Given the description of an element on the screen output the (x, y) to click on. 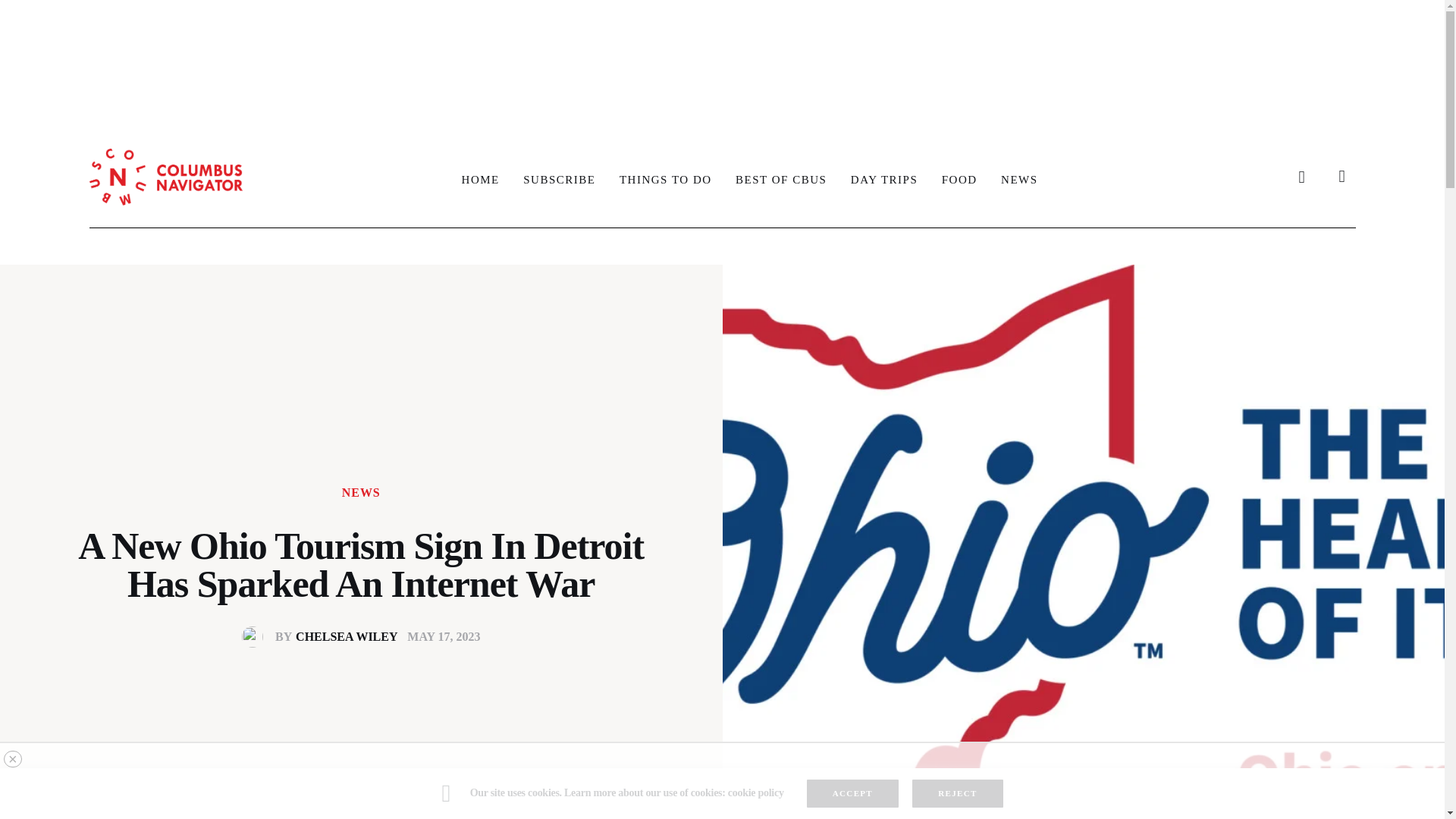
HOME (480, 178)
THINGS TO DO (665, 178)
NEWS (1018, 178)
3rd party ad content (721, 56)
FOOD (959, 178)
SUBSCRIBE (559, 178)
NEWS (361, 492)
DAY TRIPS (324, 636)
BEST OF CBUS (884, 178)
